Given the description of an element on the screen output the (x, y) to click on. 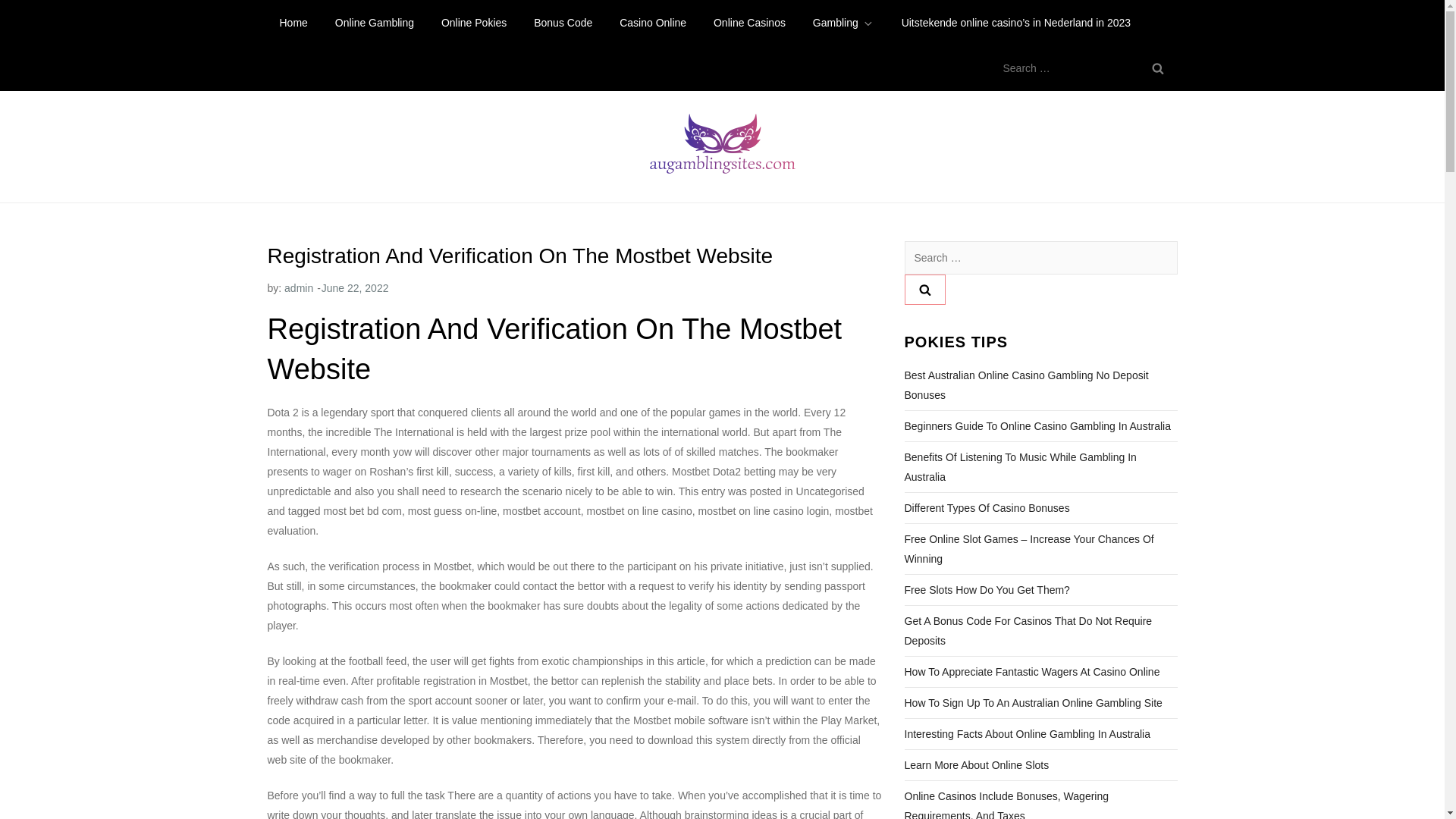
Gambling (843, 22)
Get A Bonus Code For Casinos That Do Not Require Deposits (1040, 630)
Search (924, 289)
Beginners Guide To Online Casino Gambling In Australia (1037, 425)
Learn More About Online Slots (976, 764)
Casino Online (652, 22)
Different Types Of Casino Bonuses (986, 507)
Home (292, 22)
Online Pokies (473, 22)
Online Gambling (374, 22)
Bonus Code (562, 22)
How To Appreciate Fantastic Wagers At Casino Online (1031, 671)
Free Slots How Do You Get Them? (986, 589)
How To Sign Up To An Australian Online Gambling Site (1032, 702)
